Given the description of an element on the screen output the (x, y) to click on. 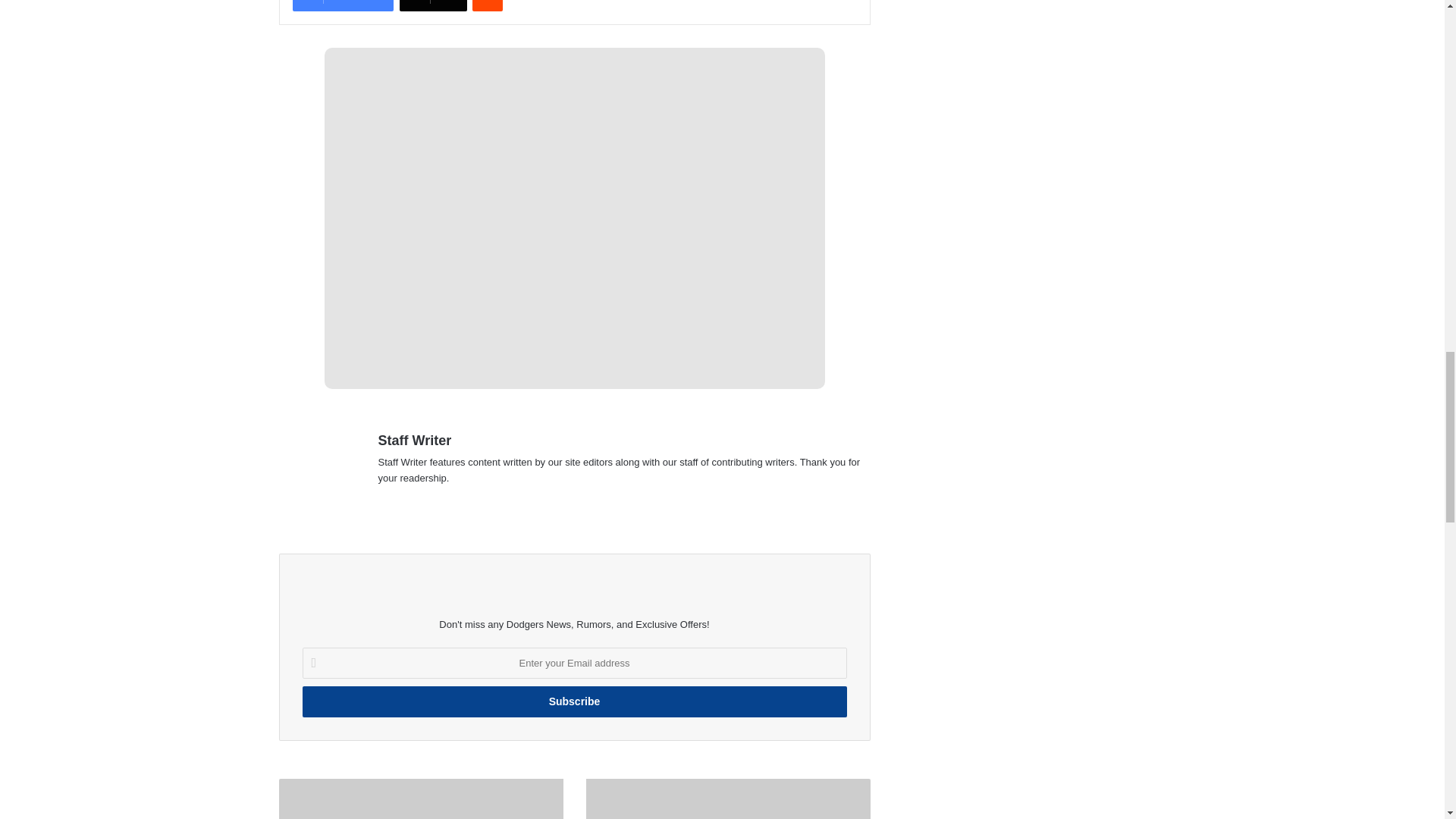
Subscribe (573, 701)
X (432, 5)
Facebook (343, 5)
Reddit (486, 5)
